Given the description of an element on the screen output the (x, y) to click on. 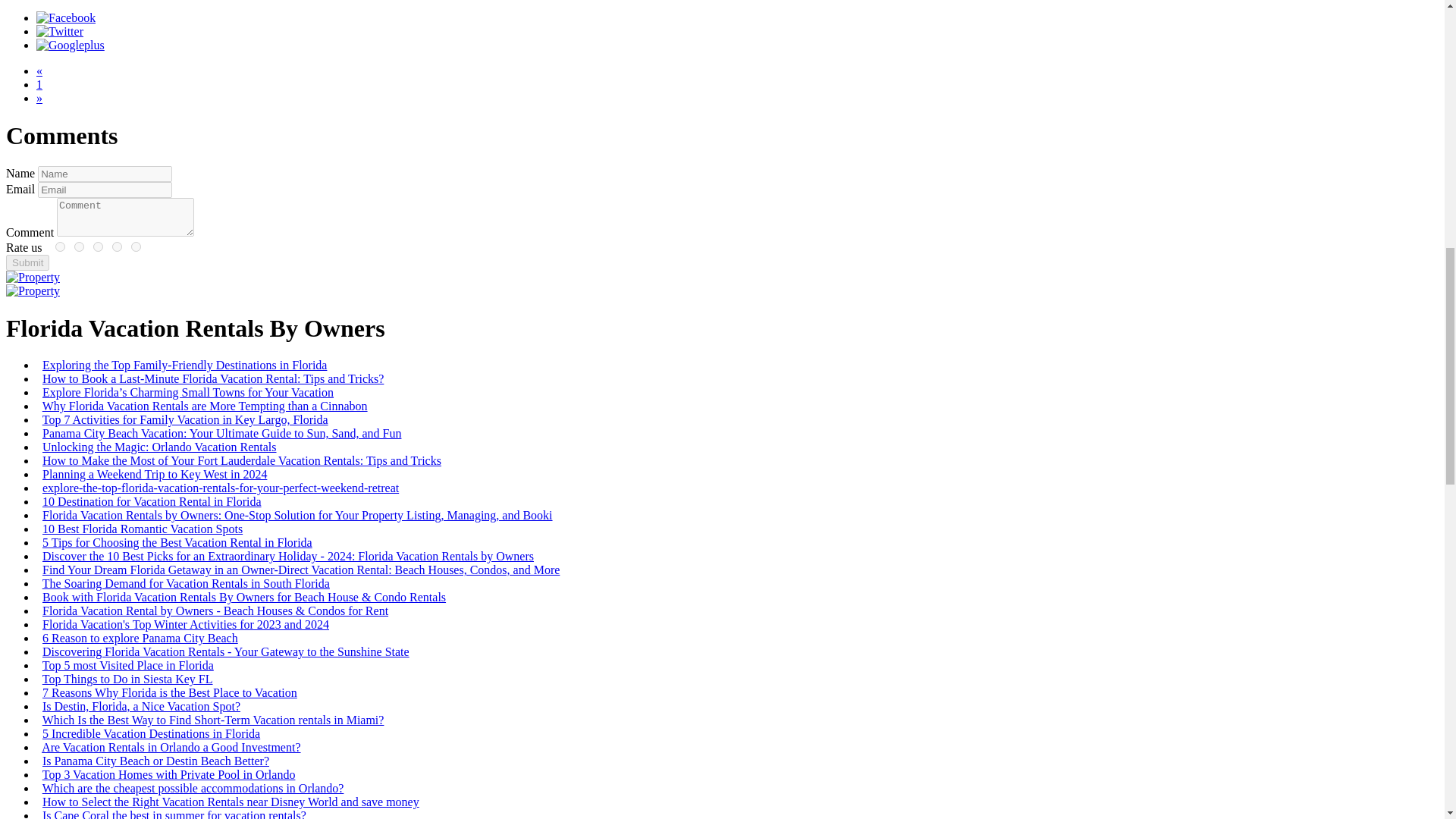
3 (98, 246)
Submit (27, 262)
Facebook Share (66, 17)
Property (32, 277)
Googleplus Share (70, 44)
4 (79, 246)
Florida Vacation's Top Winter Activities for 2023 and 2024 (185, 624)
Top 7 Activities for Family Vacation in Key Largo, Florida (185, 419)
